Given the description of an element on the screen output the (x, y) to click on. 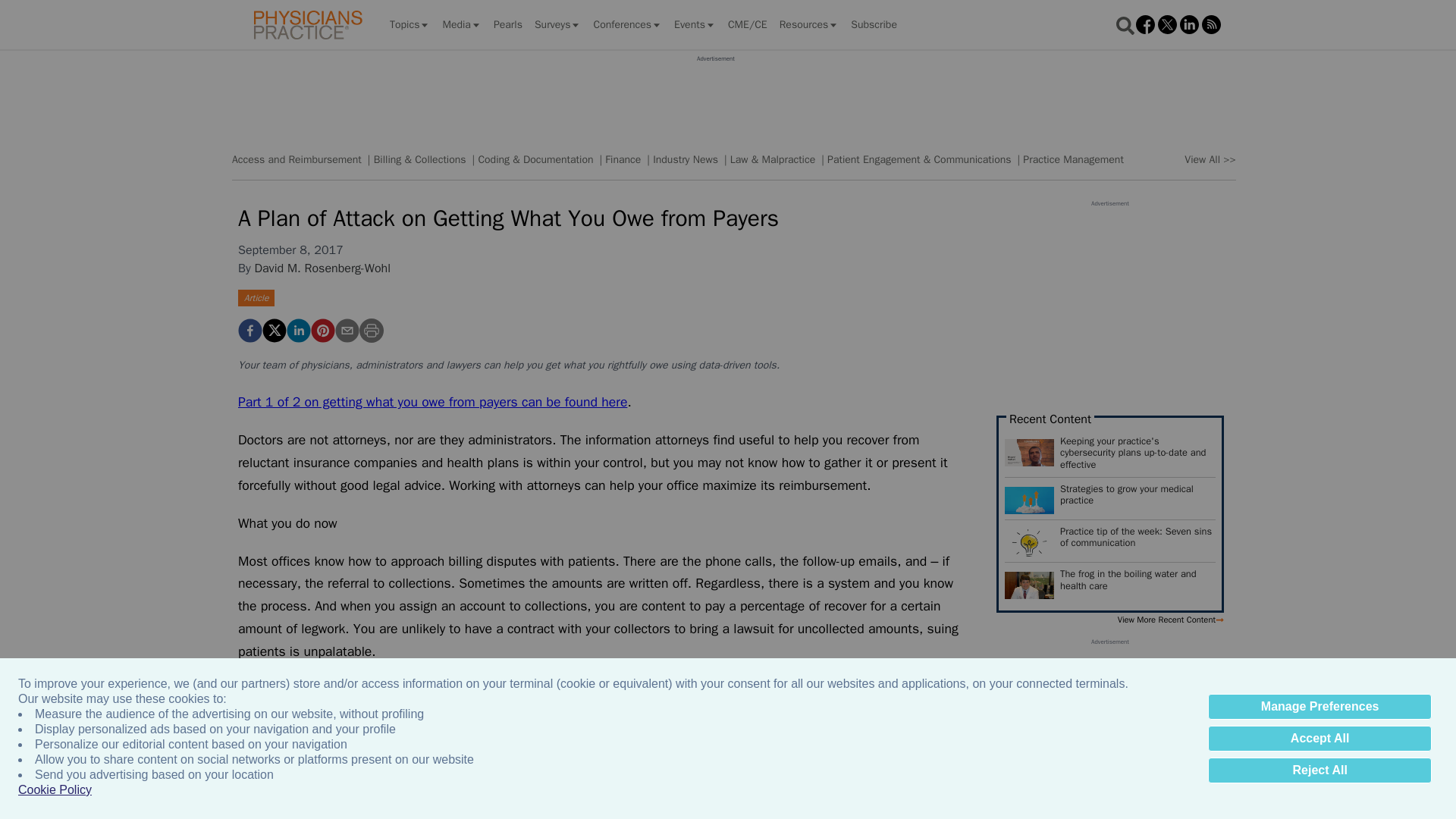
A Plan of Attack on Getting What You Owe from Payers  (250, 330)
Reject All (1319, 769)
Cookie Policy (54, 789)
3rd party ad content (715, 97)
A Plan of Attack on Getting What You Owe from Payers  (322, 330)
Manage Preferences (1319, 706)
Subscribe (873, 23)
Accept All (1319, 738)
Pearls (507, 23)
